Given the description of an element on the screen output the (x, y) to click on. 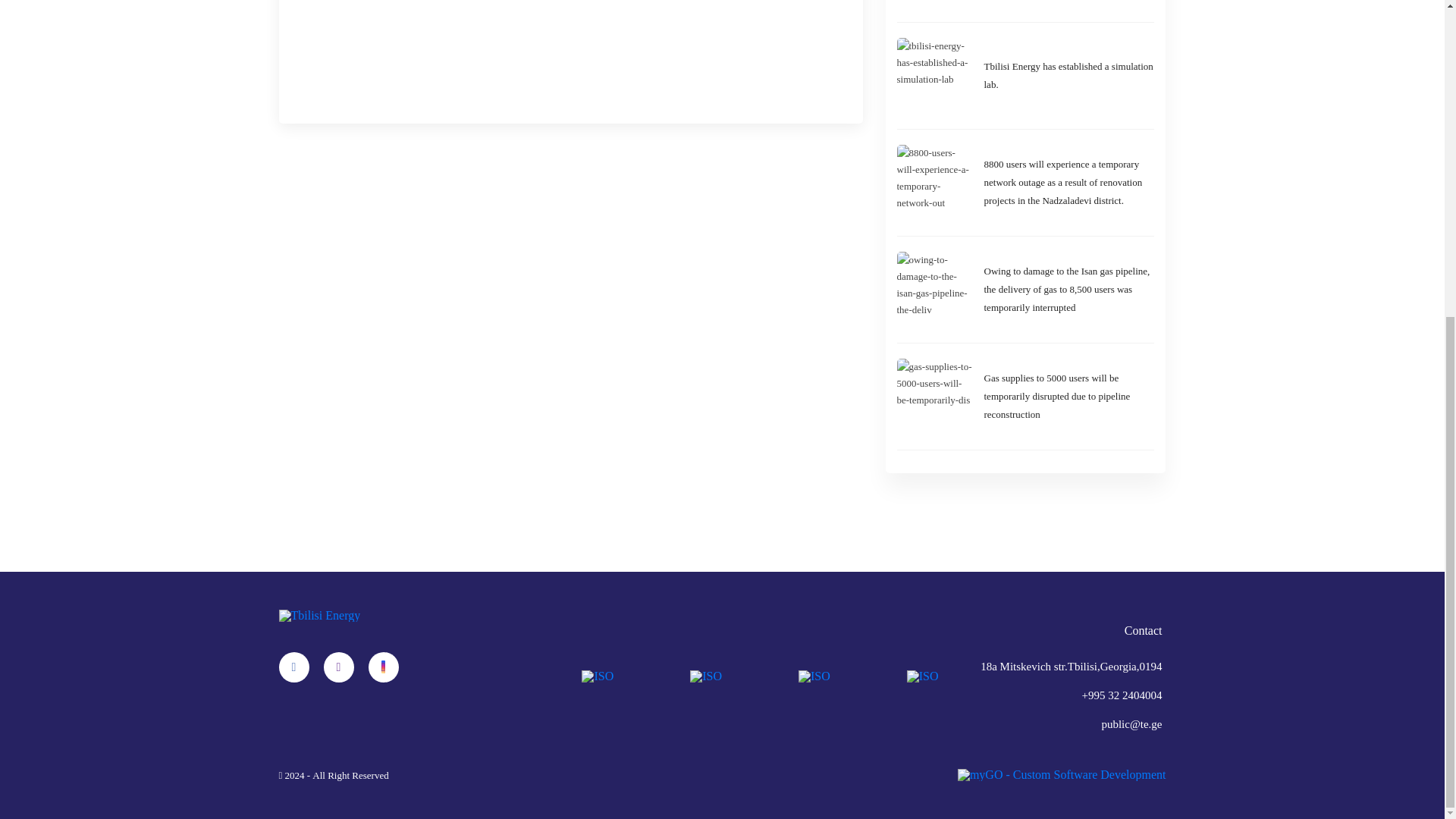
Tbilisi Energy has established a simulation lab. (1069, 75)
ISO (923, 675)
Tbilisi Energy On Instagram (383, 666)
Tbilisi Energy On Twitter (338, 666)
Tbilisi Energy (320, 615)
8800-users-will-experience-a-temporary-network-out (1069, 182)
Tbilisi Energy On Facebook (293, 666)
ISO (813, 675)
ISO (706, 675)
owing-to-damage-to-the-isan-gas-pipeline-the-deliv (1069, 289)
tbilisi-energy-has-established-a-simulation-lab (1069, 75)
tbilisi-energy-took-part-in-an-additional-hr-hub-o (1069, 3)
